Given the description of an element on the screen output the (x, y) to click on. 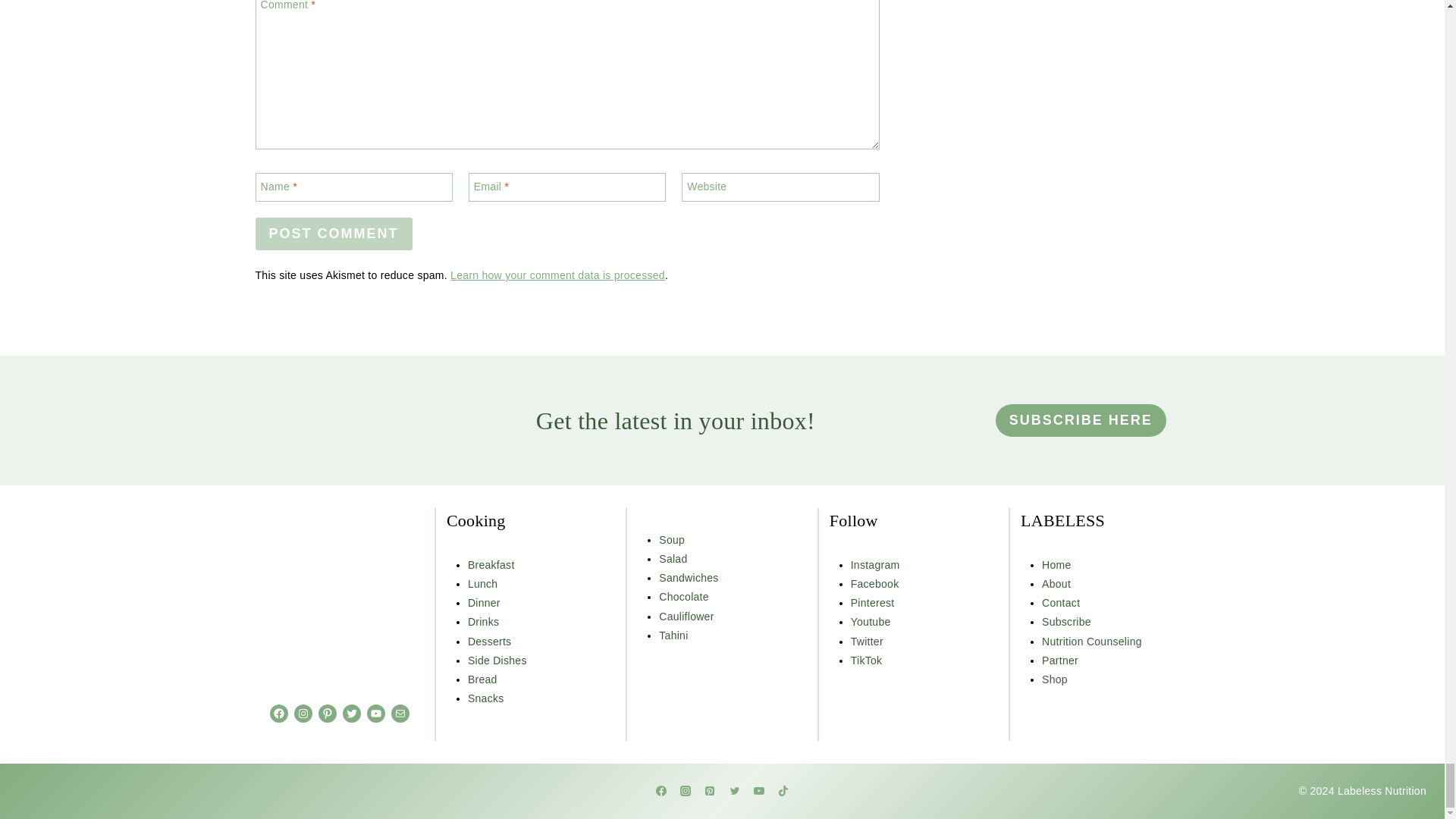
Post Comment (333, 233)
